Given the description of an element on the screen output the (x, y) to click on. 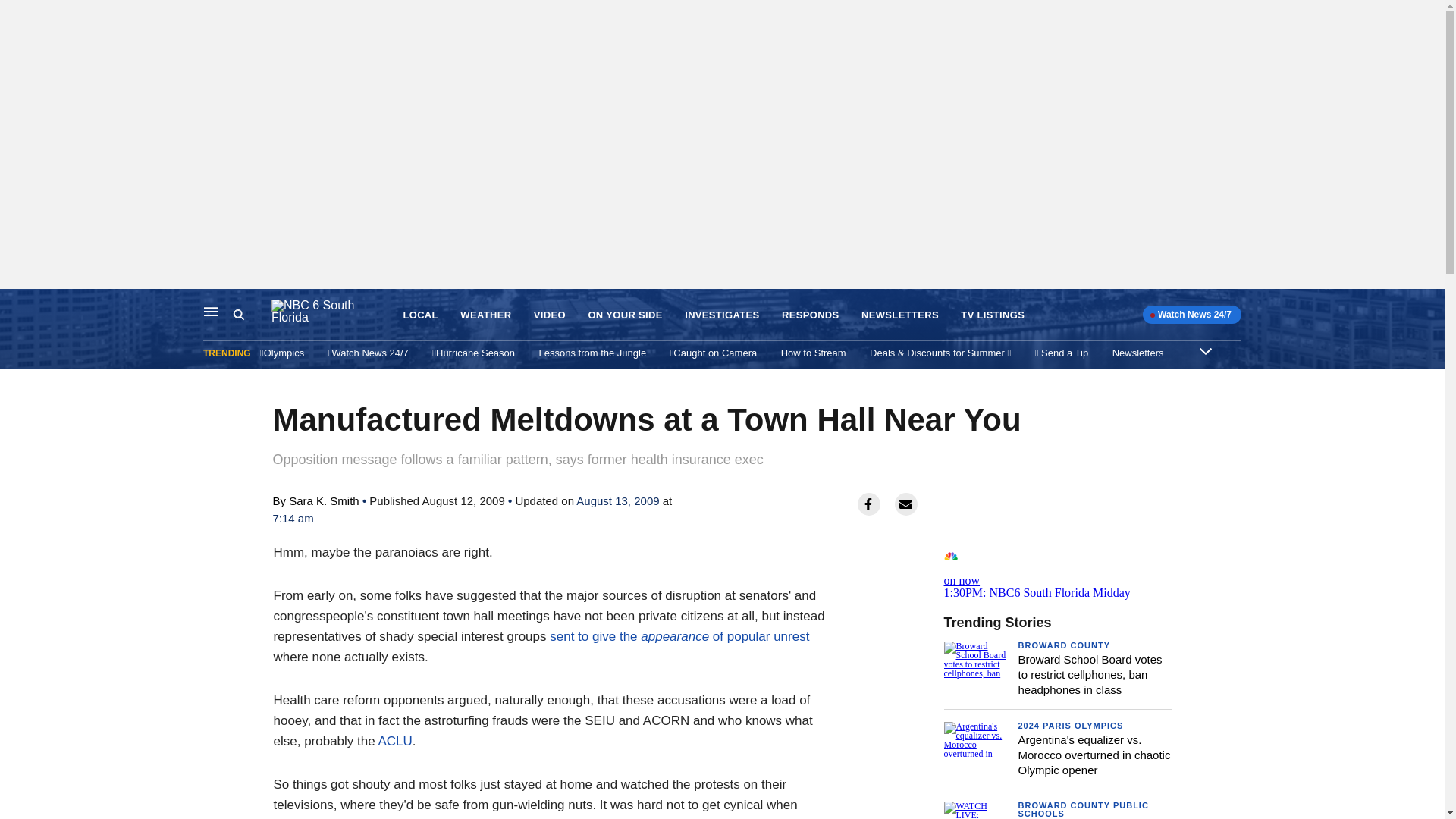
RESPONDS (810, 315)
Main Navigation (210, 311)
Lessons from the Jungle (592, 352)
sent to give the appearance of popular unrest (679, 636)
ON YOUR SIDE (625, 315)
TV LISTINGS (992, 315)
How to Stream (812, 352)
VIDEO (550, 315)
Skip to content (16, 304)
American Civil Liberties Union (394, 740)
Search (238, 314)
INVESTIGATES (721, 315)
WEATHER (485, 315)
LOCAL (420, 315)
Expand (1205, 350)
